Given the description of an element on the screen output the (x, y) to click on. 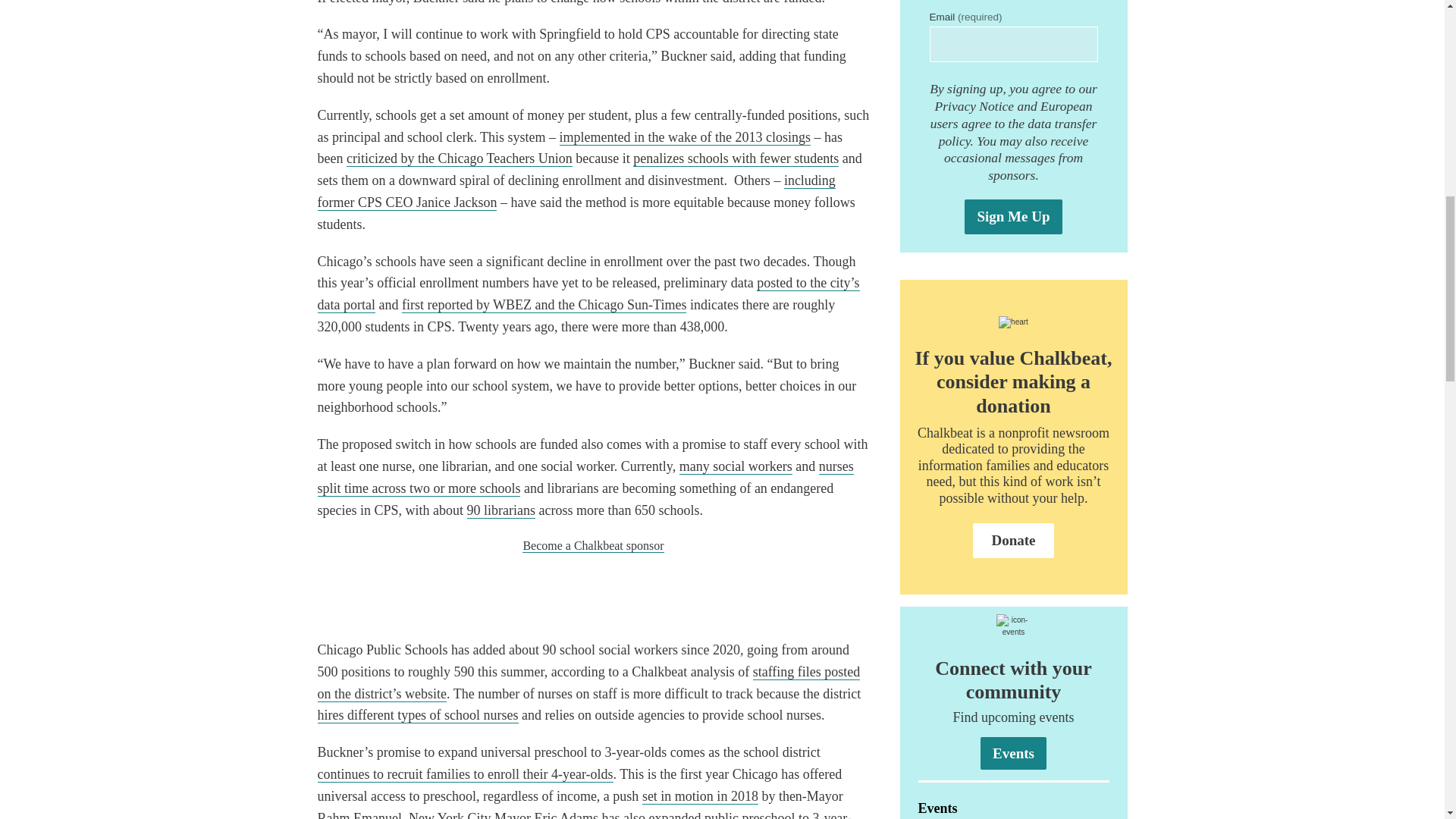
implemented in the wake of the 2013 closings (684, 137)
penalizes schools with fewer students (735, 158)
criticized by the Chicago Teachers Union (459, 158)
